Given the description of an element on the screen output the (x, y) to click on. 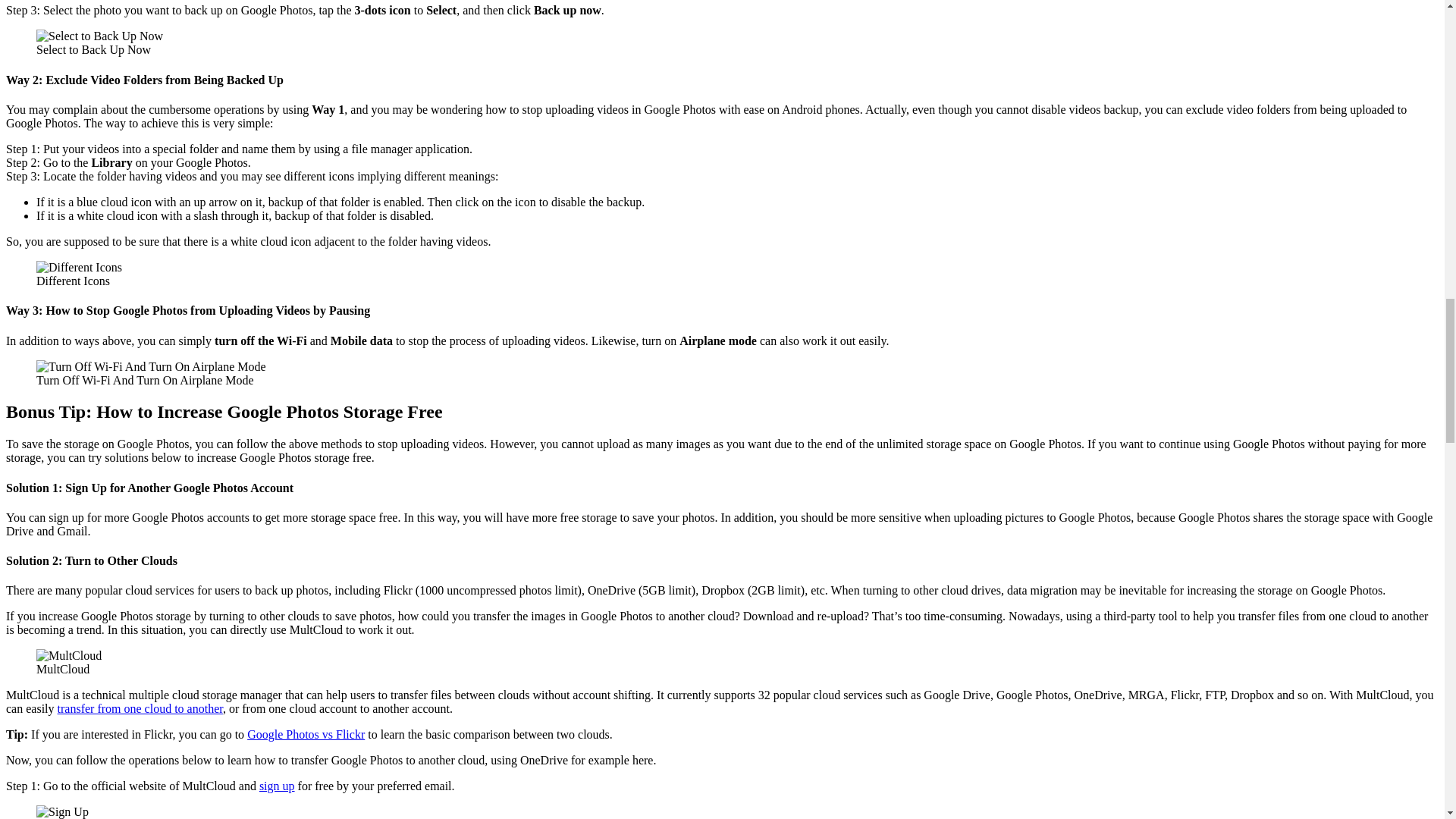
Google Photos vs Flickr (306, 734)
Transfer from One Cloud to Another (140, 707)
sign up (277, 785)
Sign Up (277, 785)
transfer from one cloud to another (140, 707)
Google Photos vs Flickr (306, 734)
